Given the description of an element on the screen output the (x, y) to click on. 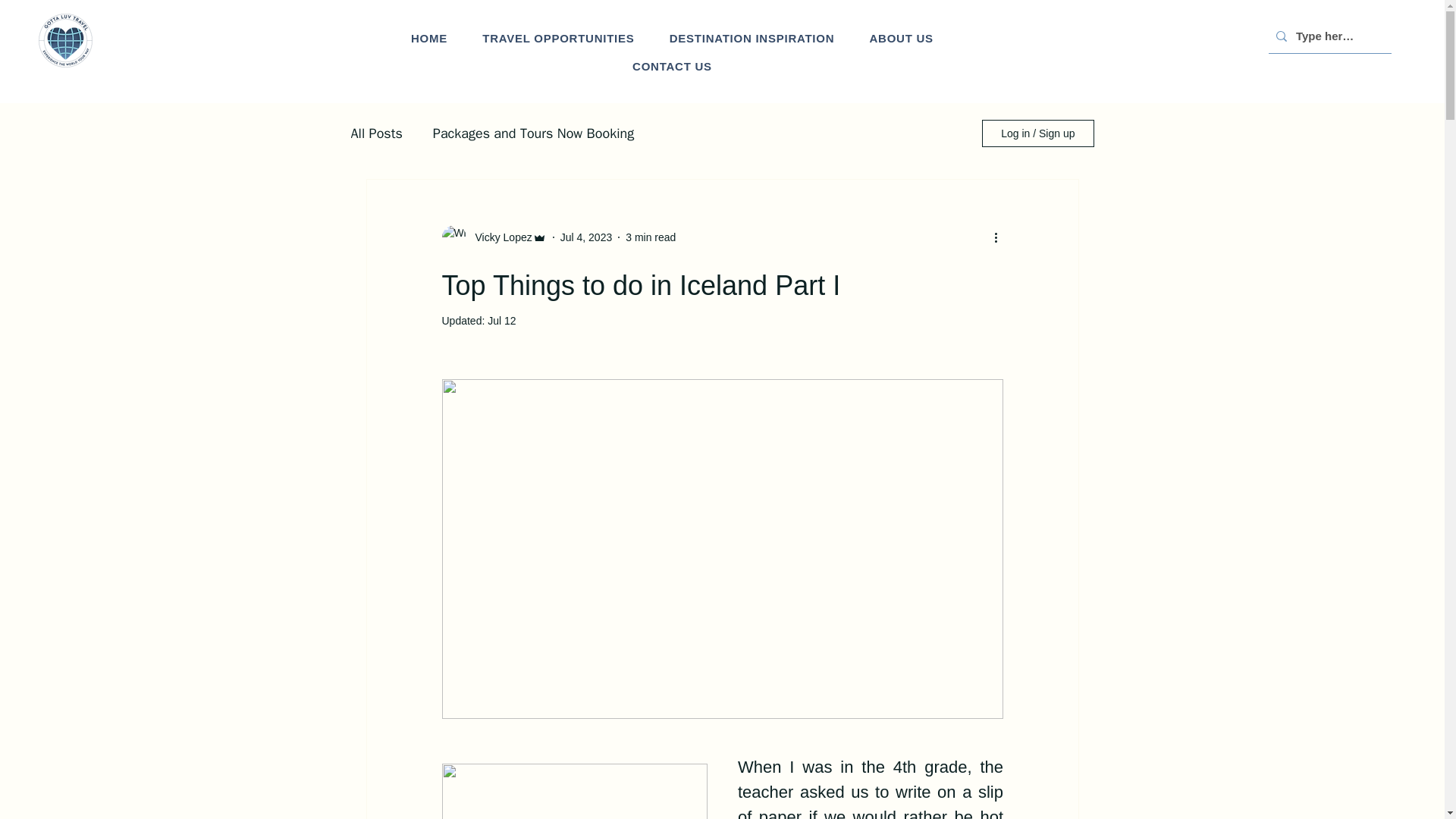
ABOUT US (900, 38)
Vicky Lopez (498, 236)
Jul 12 (501, 320)
HOME (428, 38)
Jul 4, 2023 (586, 236)
DESTINATION INSPIRATION (751, 38)
All Posts (375, 133)
CONTACT US (671, 66)
Packages and Tours Now Booking (532, 133)
TRAVEL OPPORTUNITIES (558, 38)
3 min read (650, 236)
